Given the description of an element on the screen output the (x, y) to click on. 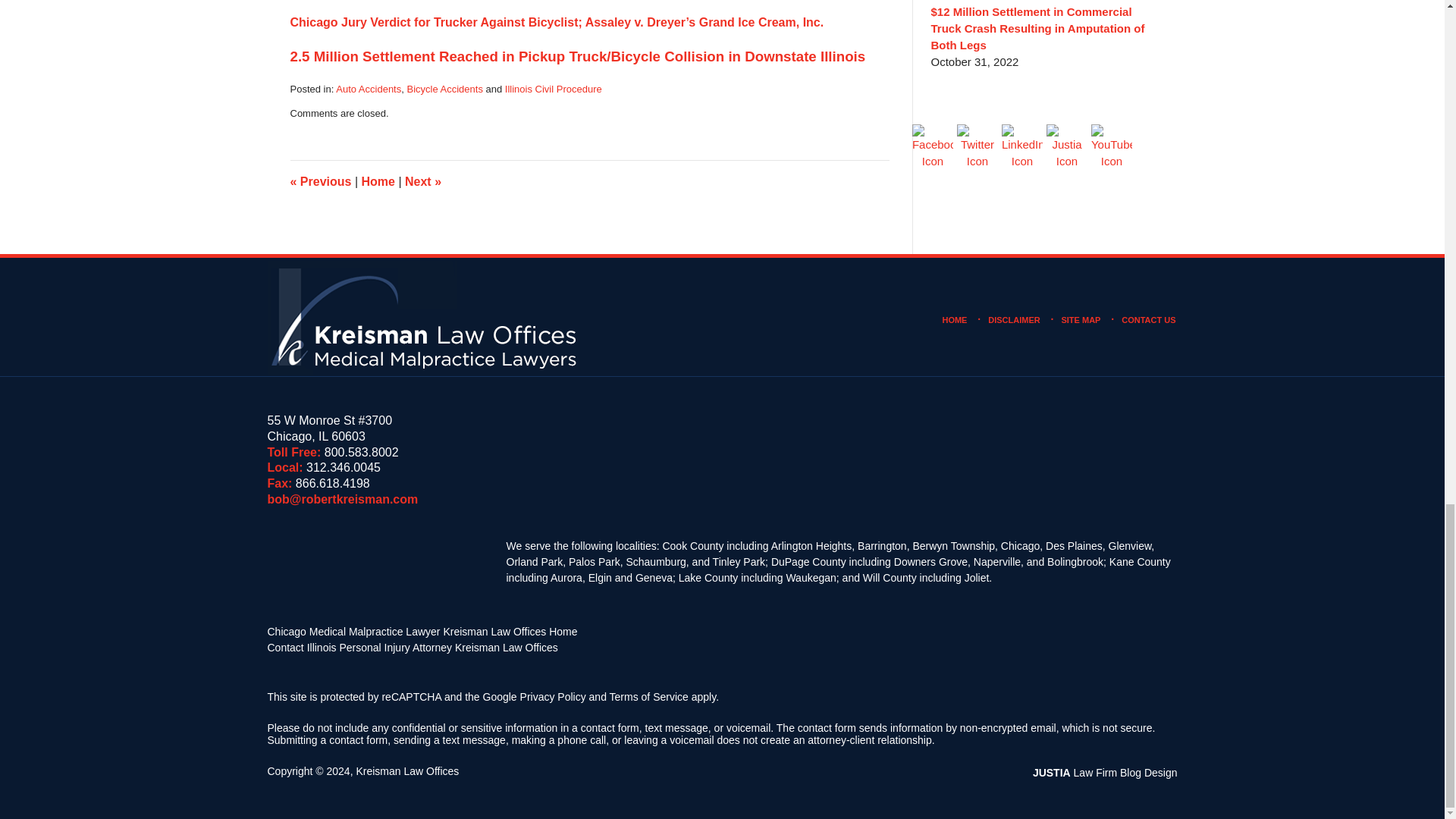
Justia (1067, 146)
View all posts in Illinois Civil Procedure (553, 89)
Semi-Trailer Truck and Bus Crashes Numbers Are Rising (319, 181)
Twitter (977, 146)
LinkedIn (1020, 146)
View all posts in Auto Accidents (368, 89)
View all posts in Bicycle Accidents (443, 89)
Facebook (932, 146)
YouTube (1111, 146)
